Given the description of an element on the screen output the (x, y) to click on. 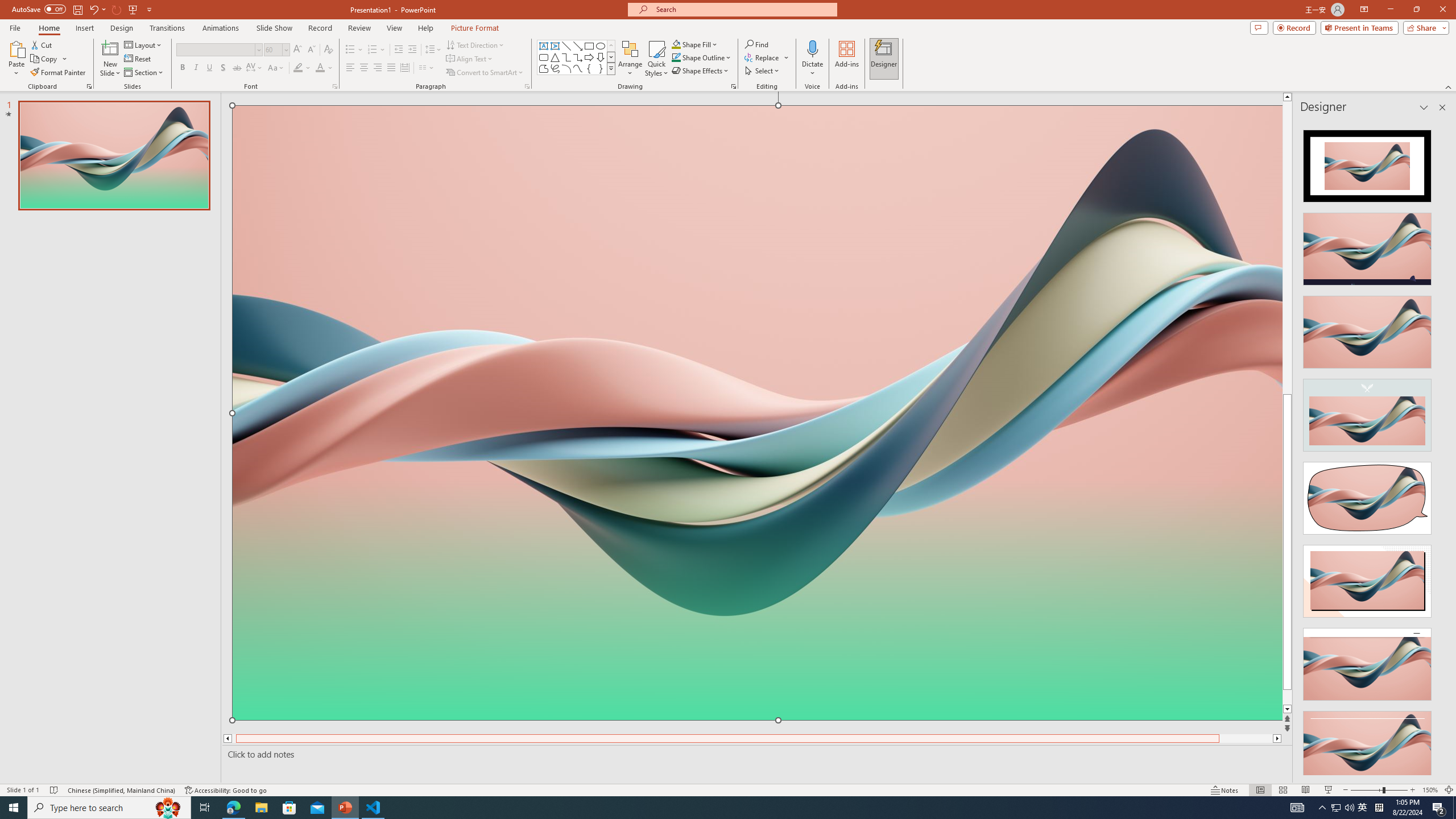
Zoom 150% (1430, 790)
